Given the description of an element on the screen output the (x, y) to click on. 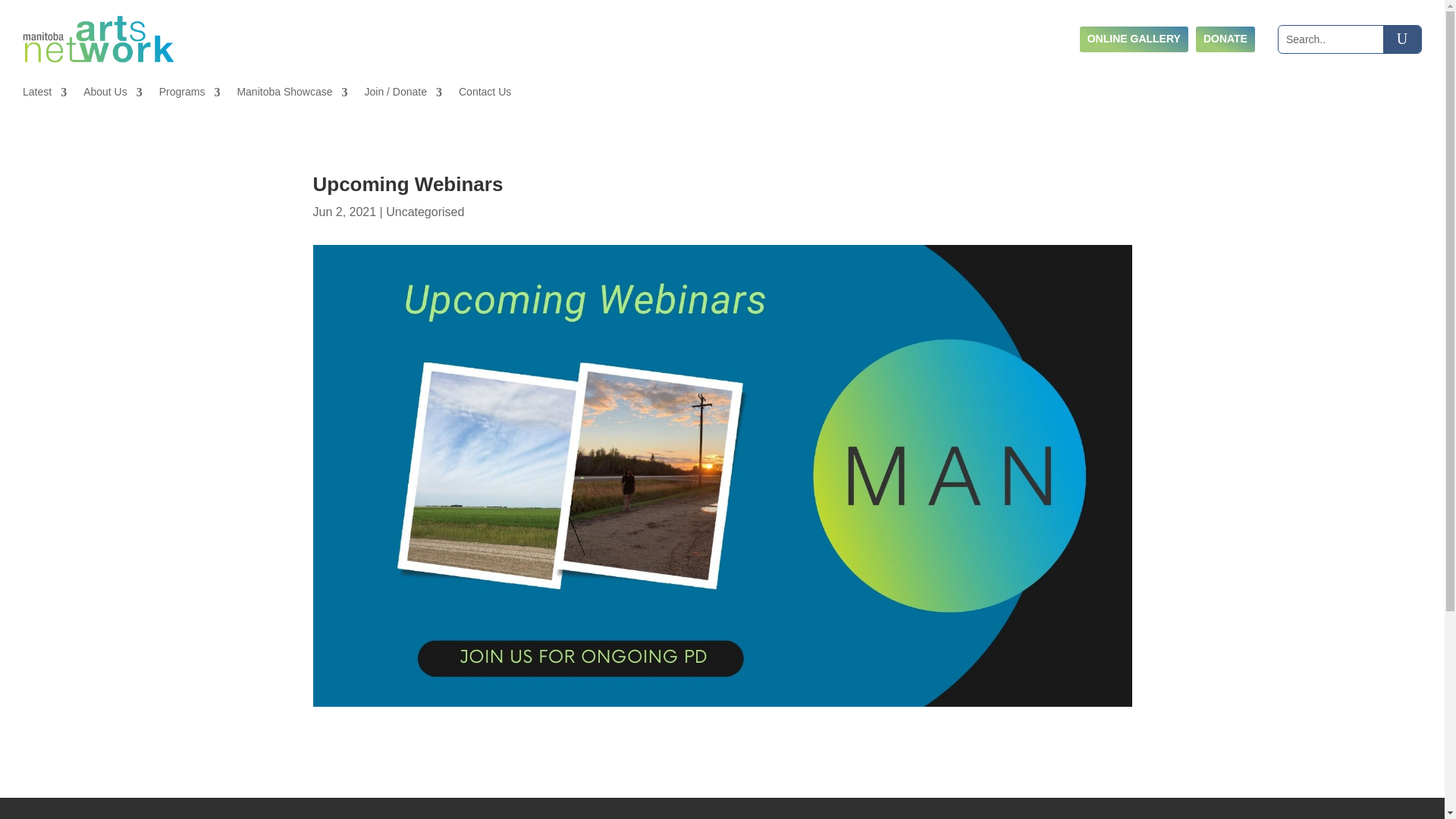
About Us (112, 95)
Latest (44, 95)
ONLINE GALLERY (1134, 39)
Search (1402, 39)
DONATE (1225, 39)
Contact Us (484, 95)
Search (1402, 39)
logo-proper (98, 39)
Programs (189, 95)
Manitoba Showcase (291, 95)
Search (1402, 39)
